Given the description of an element on the screen output the (x, y) to click on. 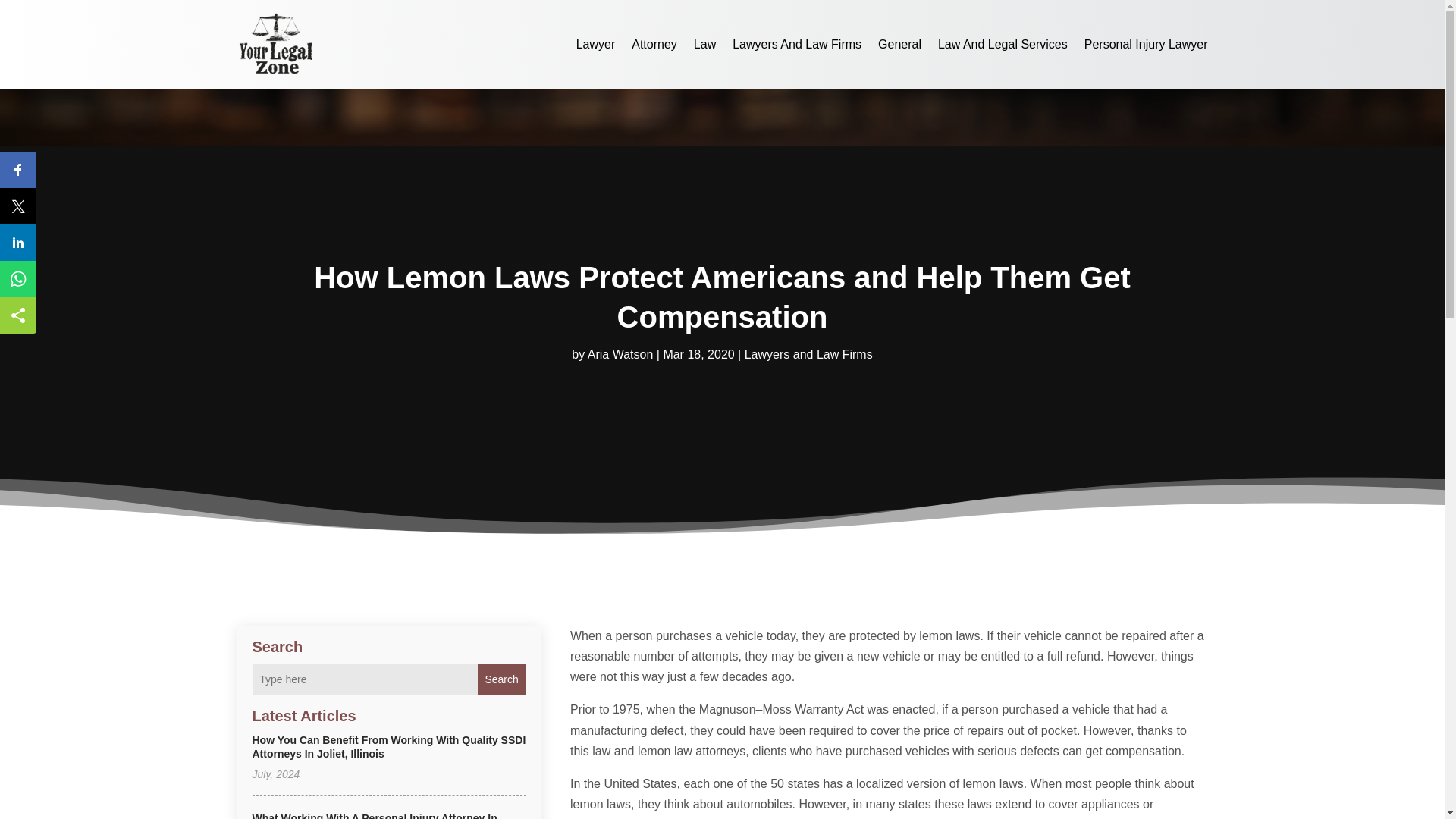
Aria Watson (620, 354)
Lawyers and Law Firms (808, 354)
Personal Injury Lawyer (1146, 44)
Lawyers And Law Firms (796, 44)
Search (501, 679)
Law And Legal Services (1002, 44)
Posts by Aria Watson (620, 354)
